Given the description of an element on the screen output the (x, y) to click on. 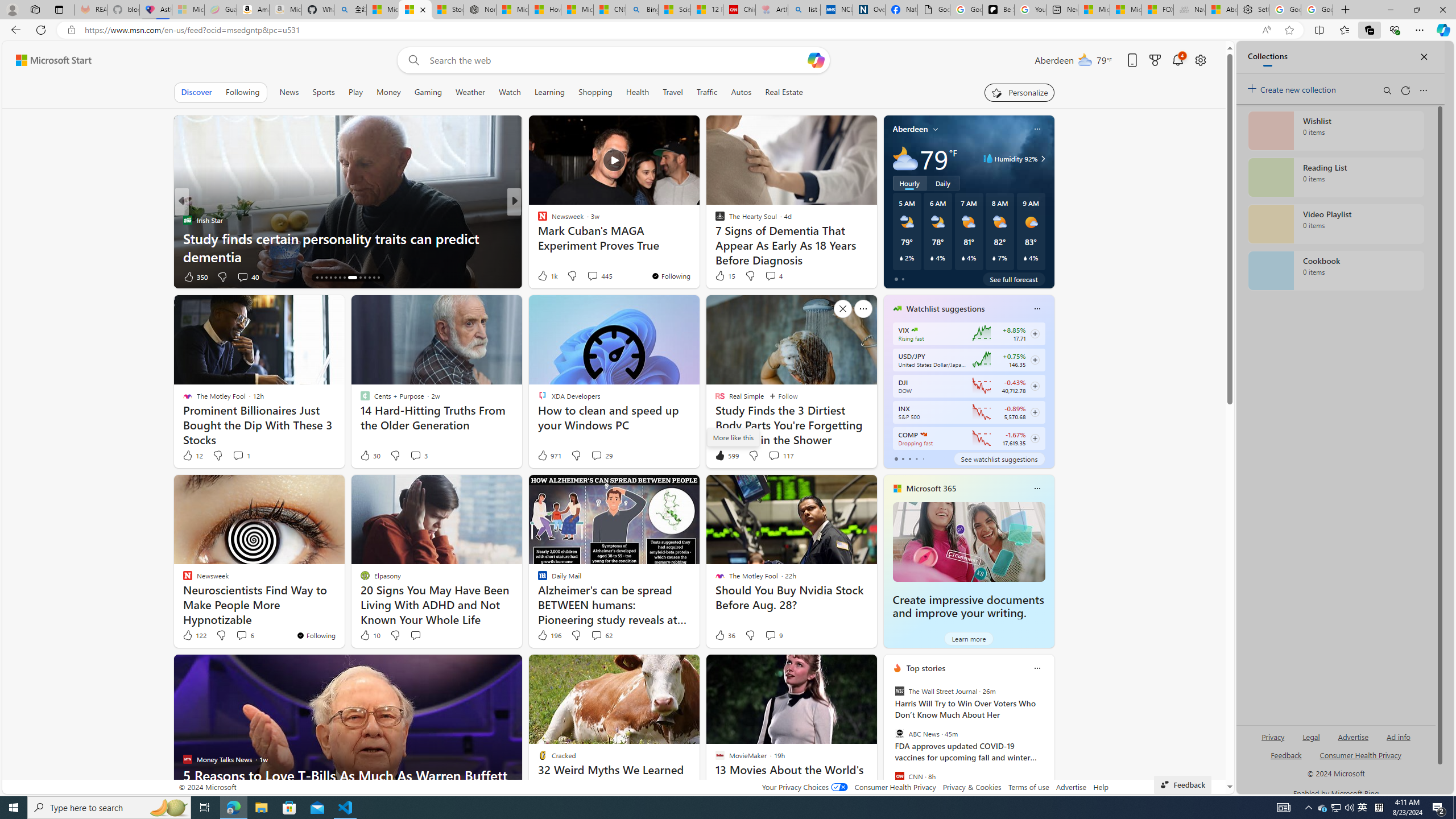
42 Like (543, 276)
AutomationID: tab-21 (352, 277)
599 Like (726, 455)
You're following Newsweek (315, 635)
Irish Star (187, 219)
Hide this story (841, 668)
Mostly cloudy (904, 158)
Aberdeen (910, 128)
122 Like (193, 634)
